Given the description of an element on the screen output the (x, y) to click on. 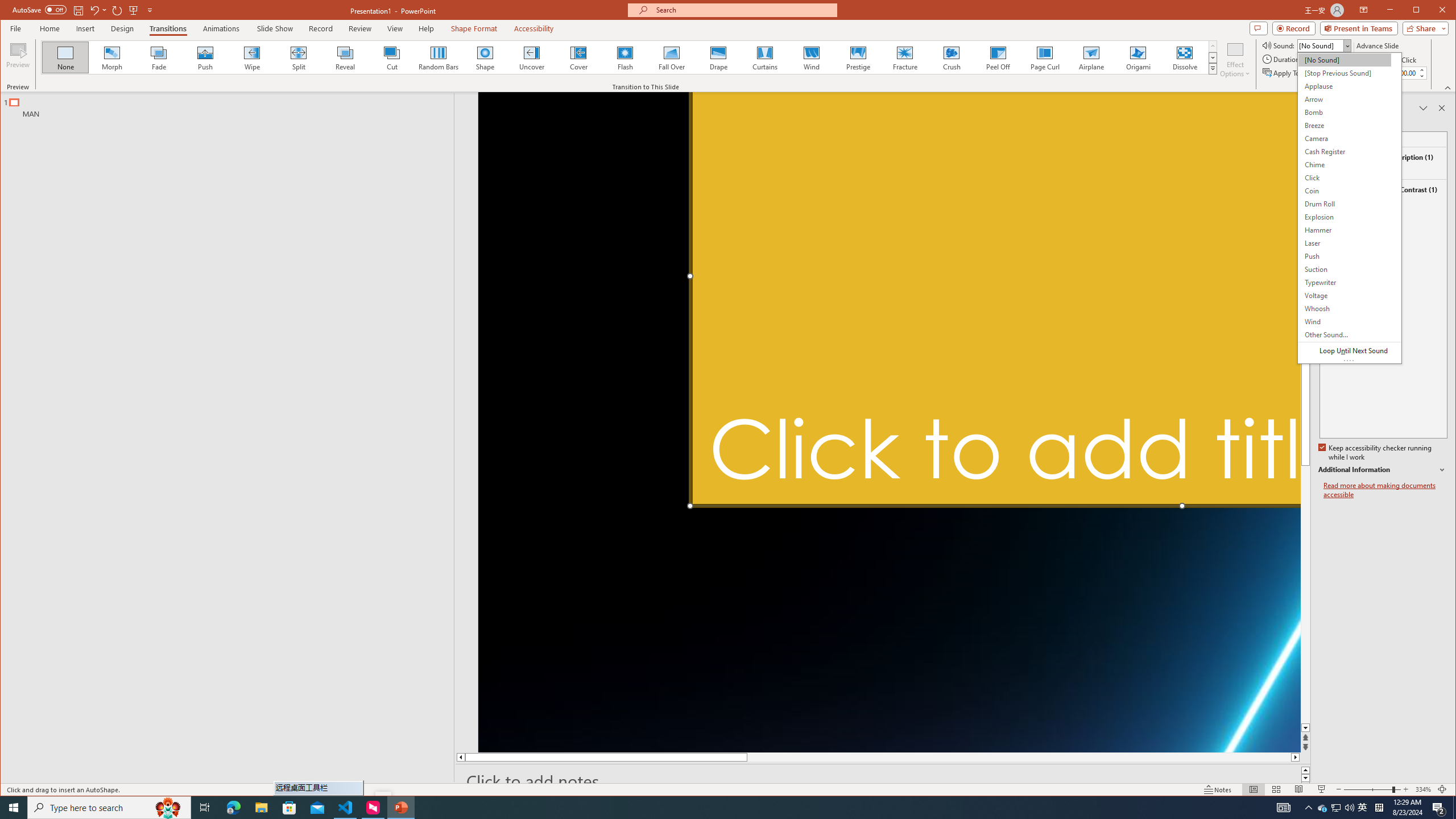
None (65, 57)
Shape (484, 57)
Read more about making documents accessible (1385, 489)
Microsoft Store (289, 807)
Microsoft search (742, 10)
Row up (1212, 46)
System (10, 10)
Slide Sorter (1276, 789)
Flash (624, 57)
Undo (94, 9)
Reveal (344, 57)
File Explorer (261, 807)
Line down (1305, 728)
Normal (1253, 789)
